Given the description of an element on the screen output the (x, y) to click on. 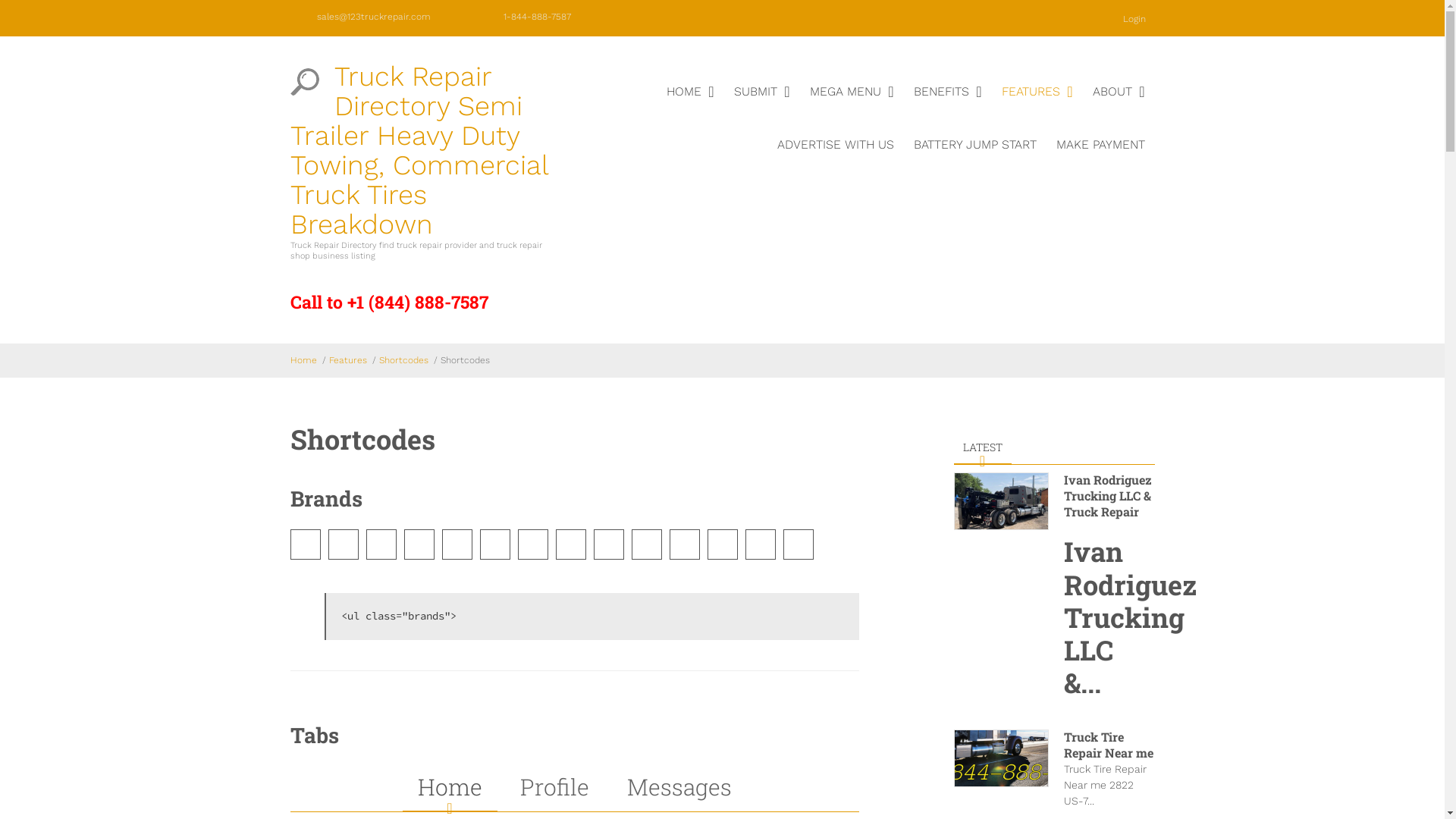
BATTERY JUMP START Element type: text (974, 156)
Messages Element type: text (678, 786)
facebook Element type: text (633, 16)
LATEST
(ACTIVE TAB) Element type: text (982, 447)
twitter Element type: text (667, 16)
MAKE PAYMENT Element type: text (1100, 156)
ABOUT Element type: text (1118, 103)
sales@123truckrepair.com Element type: text (373, 16)
Call to +1 (844) 888-7587 Element type: text (388, 301)
Home Element type: text (448, 787)
MEGA MENU Element type: text (851, 103)
Shortcodes Element type: text (403, 359)
Skip to main content Element type: text (60, 0)
HOME Element type: text (690, 103)
pinterest Element type: text (803, 16)
BENEFITS Element type: text (947, 103)
Login Element type: text (1128, 18)
Truck Tire Repair Near me Element type: text (1107, 744)
Features Element type: text (348, 359)
Ivan Rodriguez Trucking LLC & Truck Repair Element type: text (1107, 495)
linkedin Element type: text (735, 16)
Home Element type: hover (303, 81)
Home Element type: text (302, 359)
SUBMIT Element type: text (761, 103)
Truck Tire Repair Near me Element type: hover (1000, 758)
FEATURES Element type: text (1036, 103)
Profile Element type: text (554, 786)
ADVERTISE WITH US Element type: text (835, 156)
googleplus Element type: text (701, 16)
youtube Element type: text (770, 16)
